Given the description of an element on the screen output the (x, y) to click on. 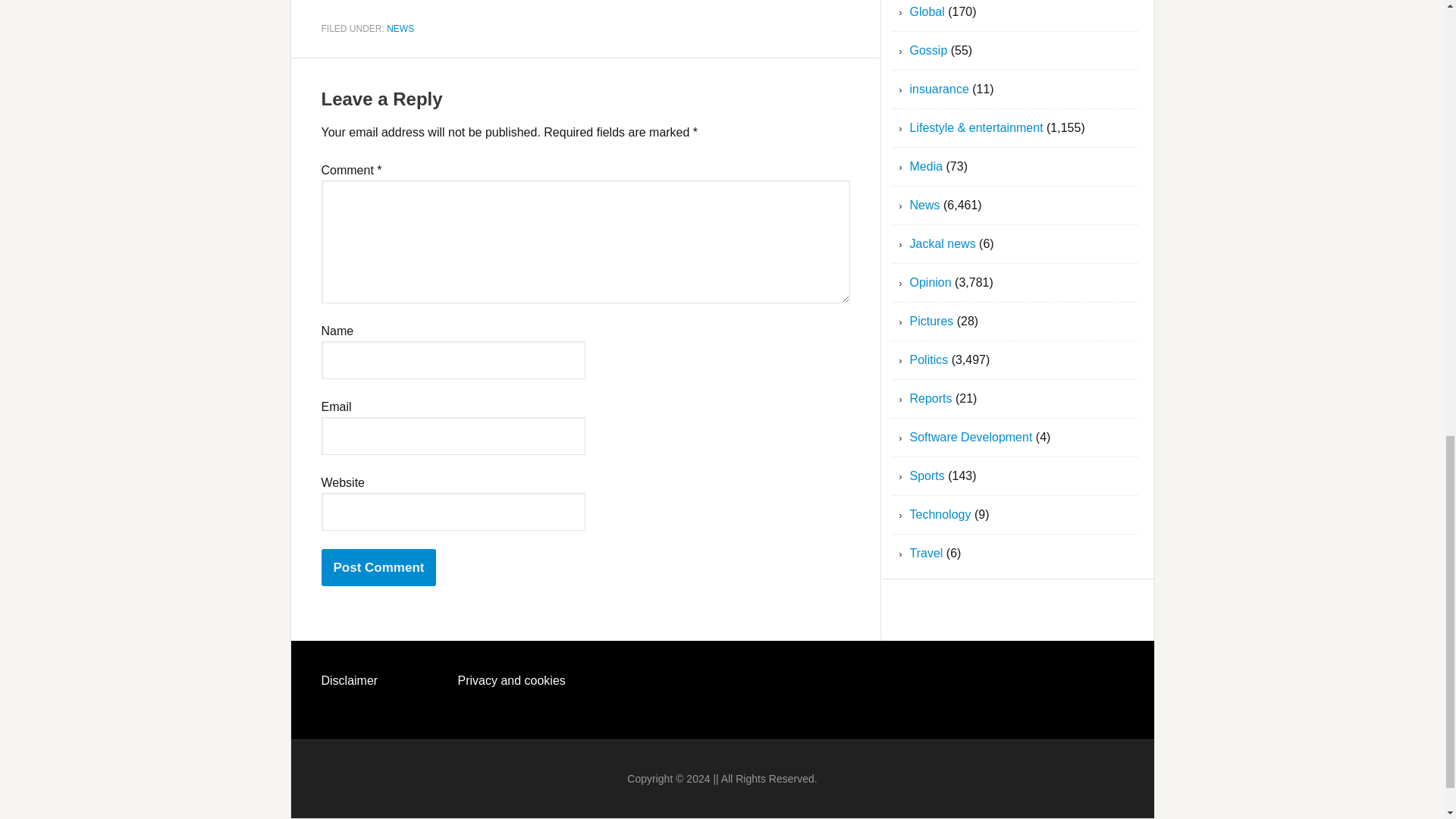
insuarance (939, 88)
Politics (929, 359)
Media (926, 165)
Reports (931, 398)
Post Comment (378, 567)
Opinion (931, 282)
Global (927, 11)
NEWS (400, 27)
News (925, 205)
Post Comment (378, 567)
